Given the description of an element on the screen output the (x, y) to click on. 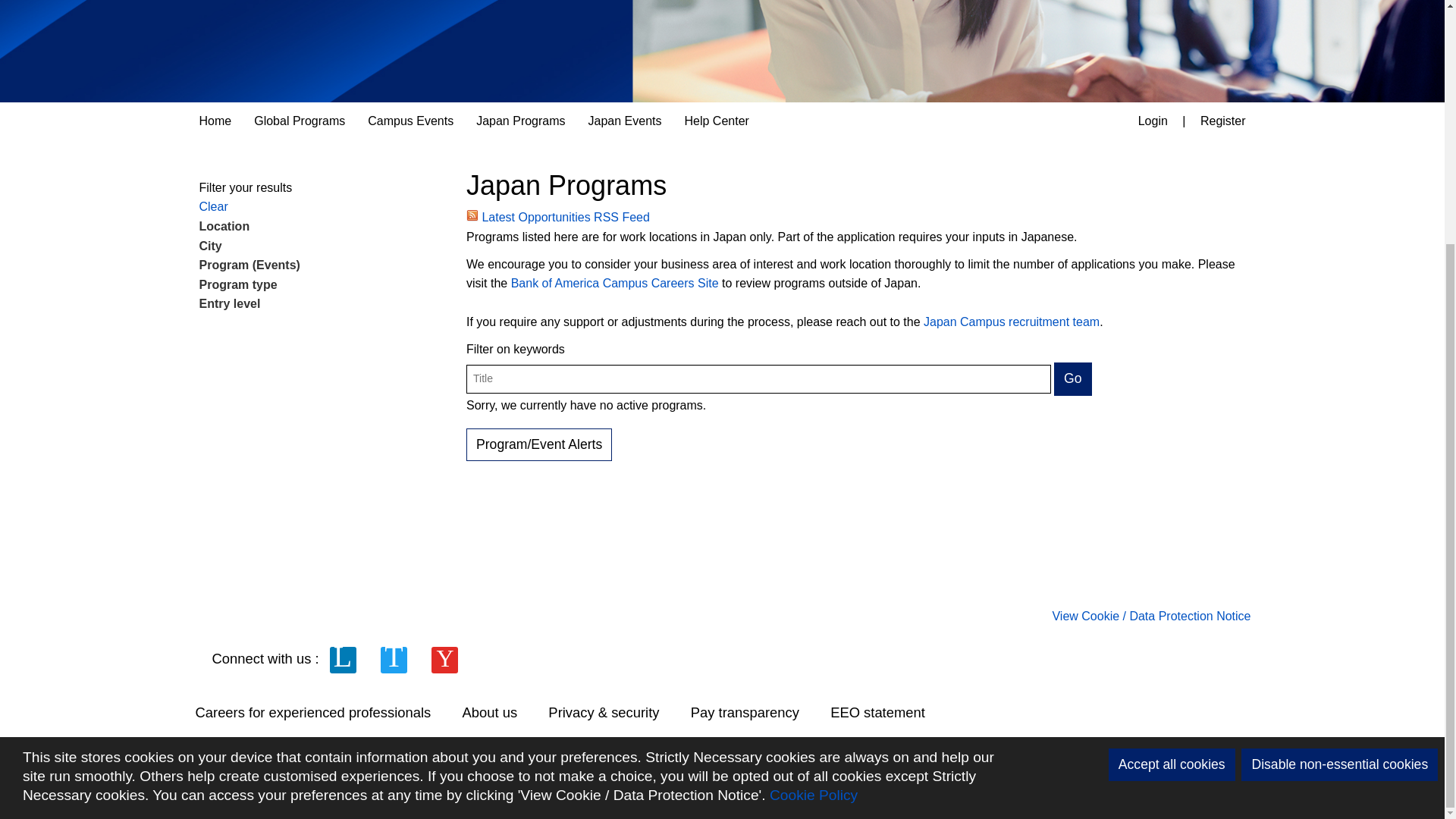
Global Programs (299, 121)
Accept all cookies (1171, 426)
Latest Opportunities RSS Feed (557, 216)
Campus Events (410, 121)
Cookie Policy (813, 456)
Careers for experienced professionals (327, 712)
Cookie Policy (813, 456)
Japan Events (624, 121)
Japan Programs (520, 121)
Home (215, 121)
Go (1072, 378)
Pay transparency (758, 712)
EEO statement (891, 712)
Disable non-essential cookies (1339, 426)
Go (1072, 378)
